Given the description of an element on the screen output the (x, y) to click on. 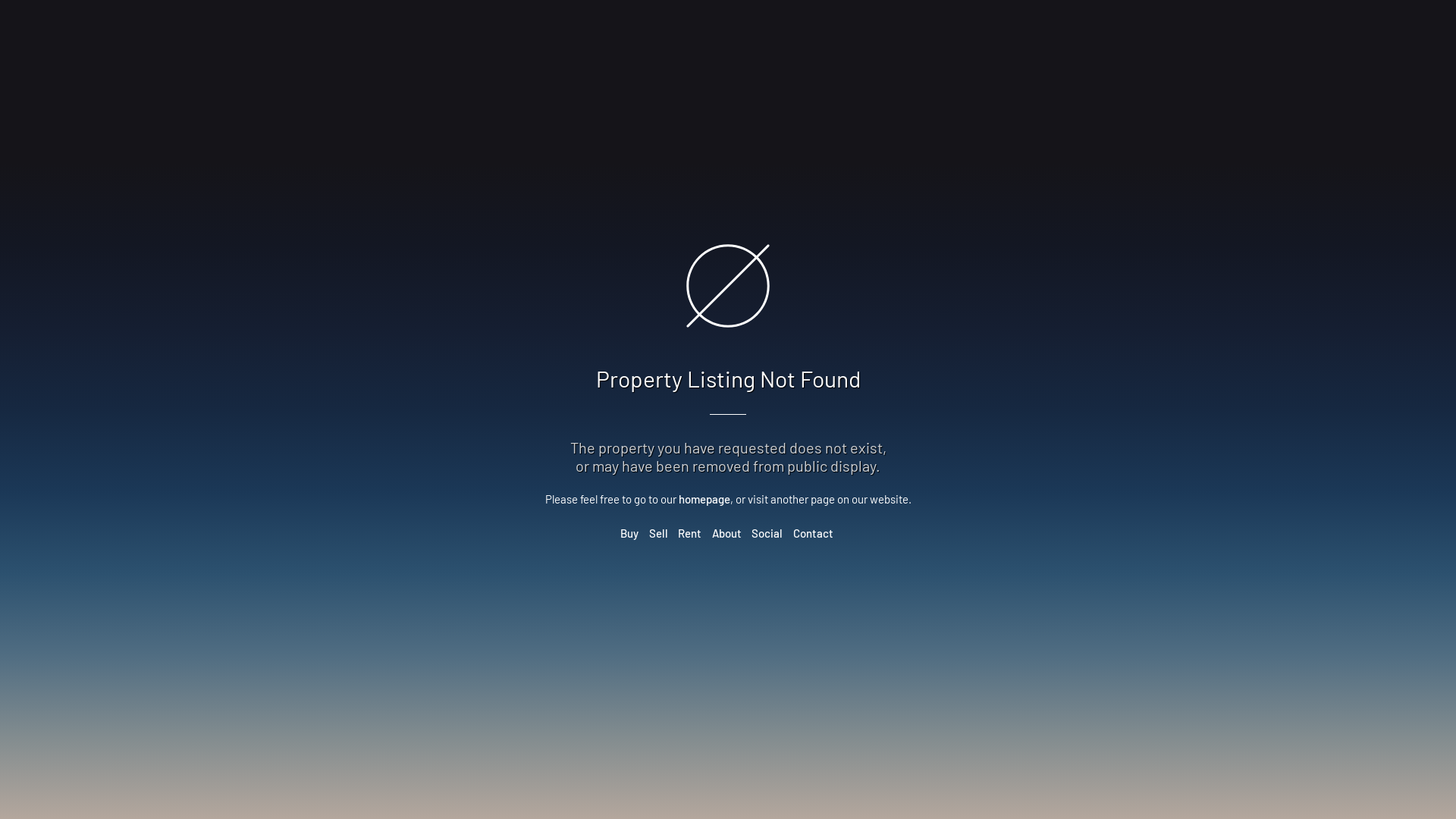
Sell Element type: text (658, 532)
homepage Element type: text (703, 498)
Contact Element type: text (813, 532)
About Element type: text (726, 532)
Rent Element type: text (689, 532)
Buy Element type: text (629, 532)
Social Element type: text (766, 532)
